Given the description of an element on the screen output the (x, y) to click on. 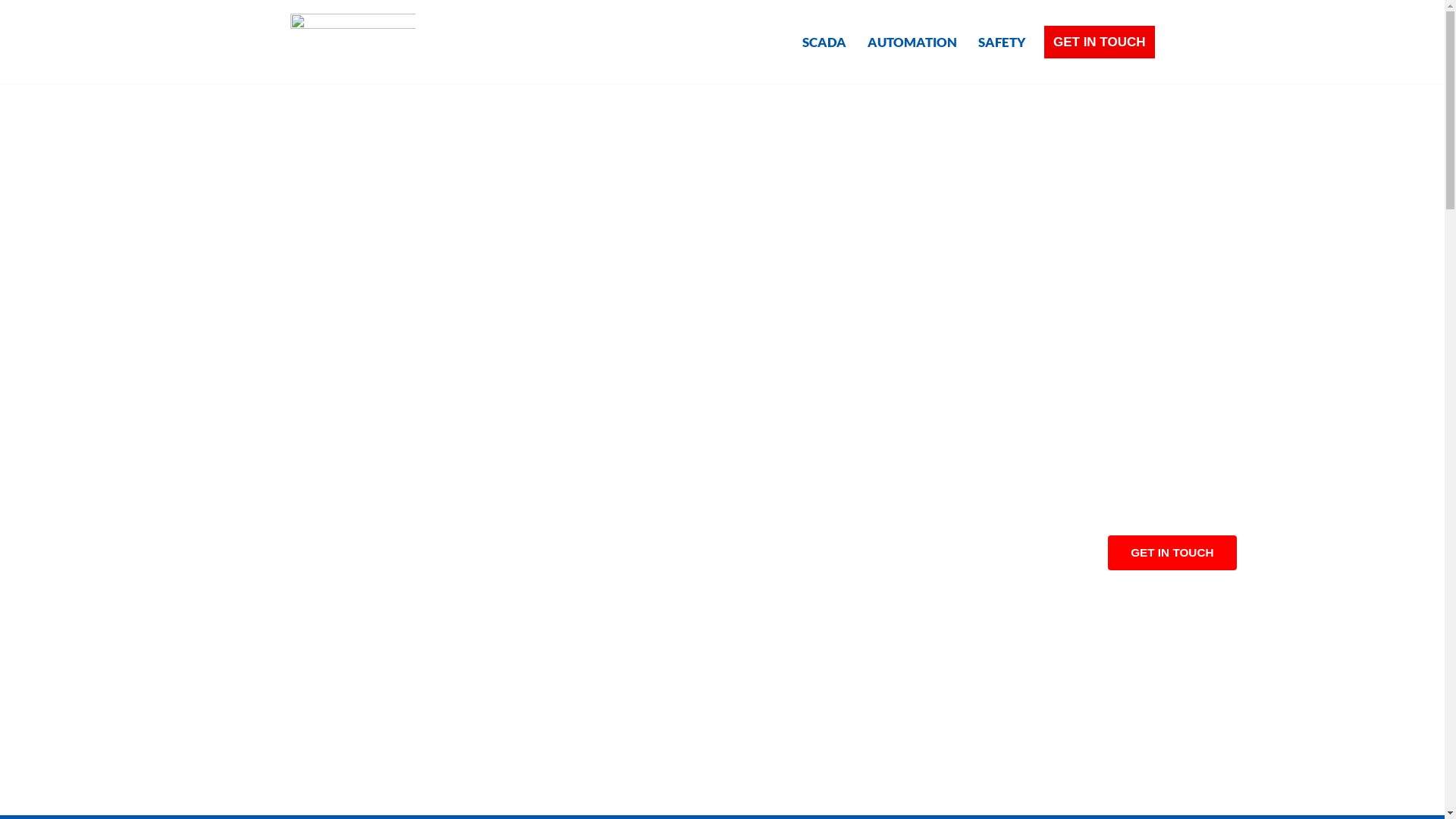
GET IN TOUCH Element type: text (1171, 552)
GET IN TOUCH Element type: text (1099, 41)
Skip to content Element type: text (11, 31)
AUTOMATION Element type: text (912, 41)
SCADA Element type: text (824, 41)
Goto Electrical Element type: hover (351, 41)
SAFETY Element type: text (1002, 41)
